Given the description of an element on the screen output the (x, y) to click on. 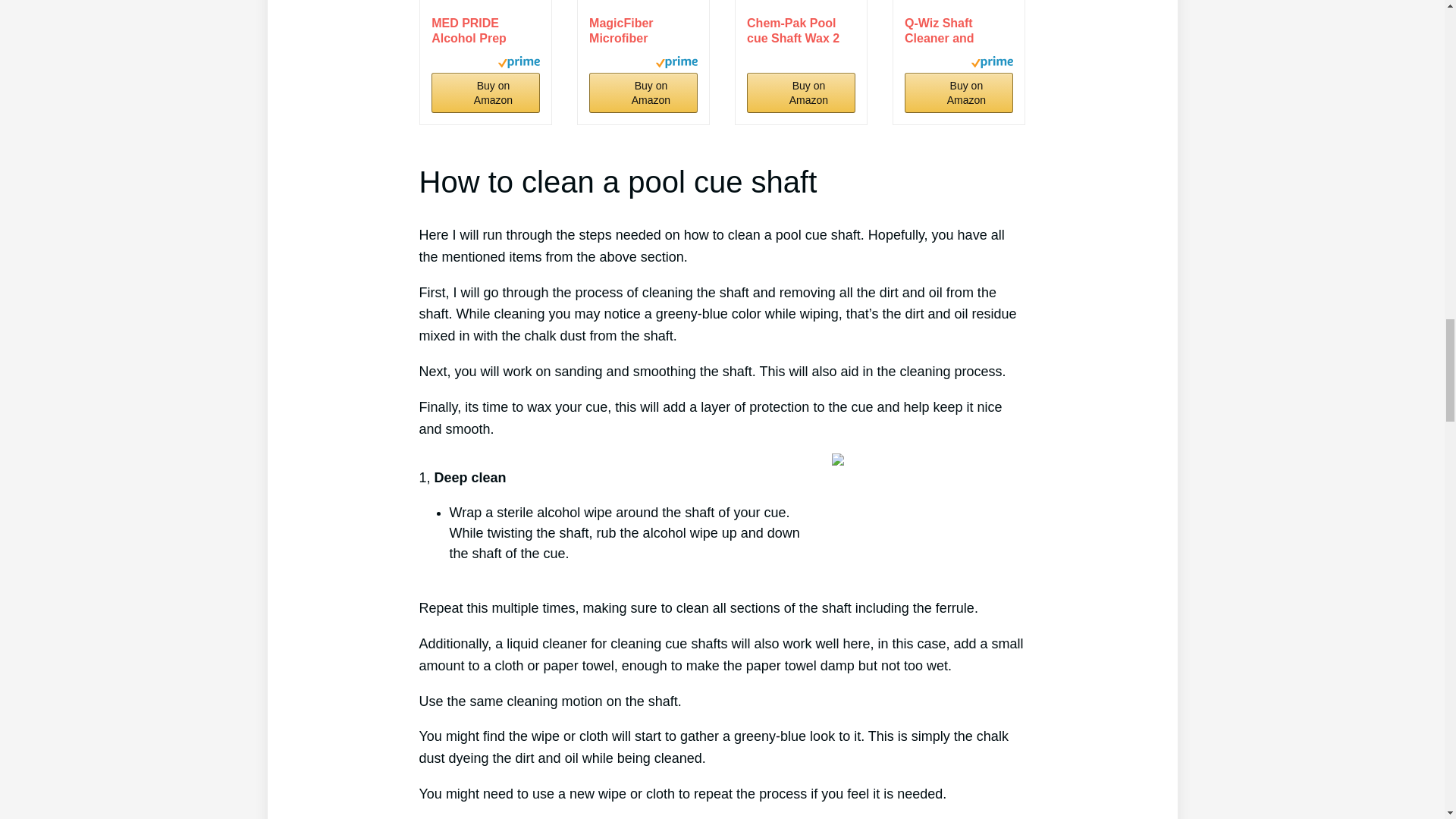
Chem-Pak Pool cue Shaft Wax 2 oz (801, 30)
Q-Wiz Shaft Cleaner and Burnisher (958, 30)
Buy on Amazon (643, 92)
MagicFiber Microfiber Cleaning Cloth, 6 pack -... (643, 30)
Amazon Prime (518, 64)
Chem-Pak Pool cue Shaft Wax 2 oz (801, 30)
Buy on Amazon (485, 92)
Q-Wiz Shaft Cleaner and Burnisher (958, 4)
Buy on Amazon (485, 92)
Amazon Prime (992, 64)
